Given the description of an element on the screen output the (x, y) to click on. 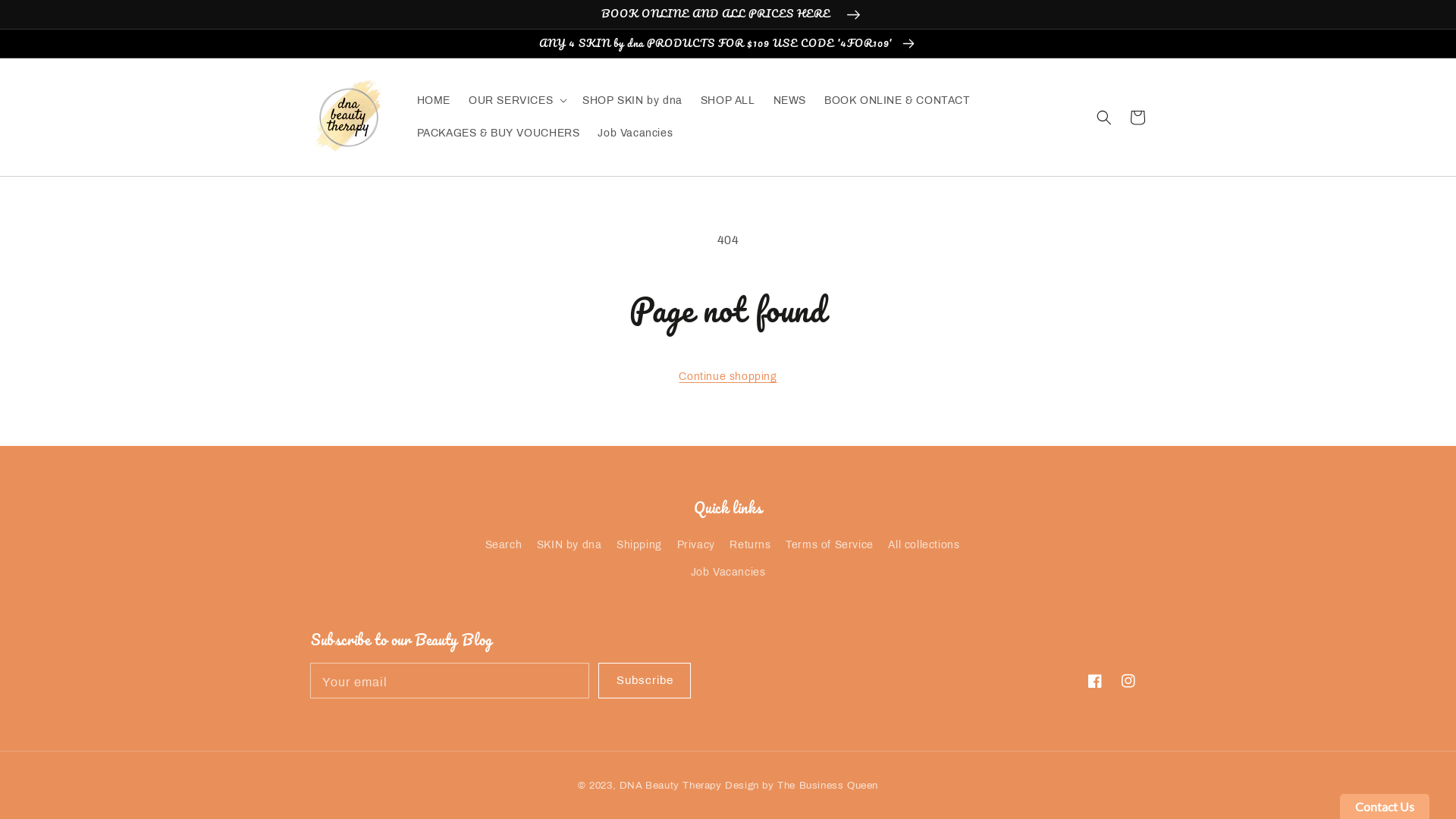
Returns Element type: text (749, 544)
PACKAGES & BUY VOUCHERS Element type: text (498, 133)
Shipping Element type: text (639, 544)
Search Element type: text (503, 546)
Design by The Business Queen Element type: text (801, 784)
HOME Element type: text (433, 100)
NEWS Element type: text (789, 100)
All collections Element type: text (923, 544)
Job Vacancies Element type: text (634, 133)
DNA Beauty Therapy Element type: text (670, 784)
Instagram Element type: text (1128, 680)
Privacy Element type: text (695, 544)
Cart Element type: text (1137, 117)
Facebook Element type: text (1094, 680)
Terms of Service Element type: text (829, 544)
SHOP SKIN by dna Element type: text (632, 100)
SHOP ALL Element type: text (727, 100)
SKIN by dna Element type: text (569, 544)
Job Vacancies Element type: text (727, 571)
Continue shopping Element type: text (727, 376)
Subscribe Element type: text (644, 680)
BOOK ONLINE & CONTACT Element type: text (897, 100)
